Given the description of an element on the screen output the (x, y) to click on. 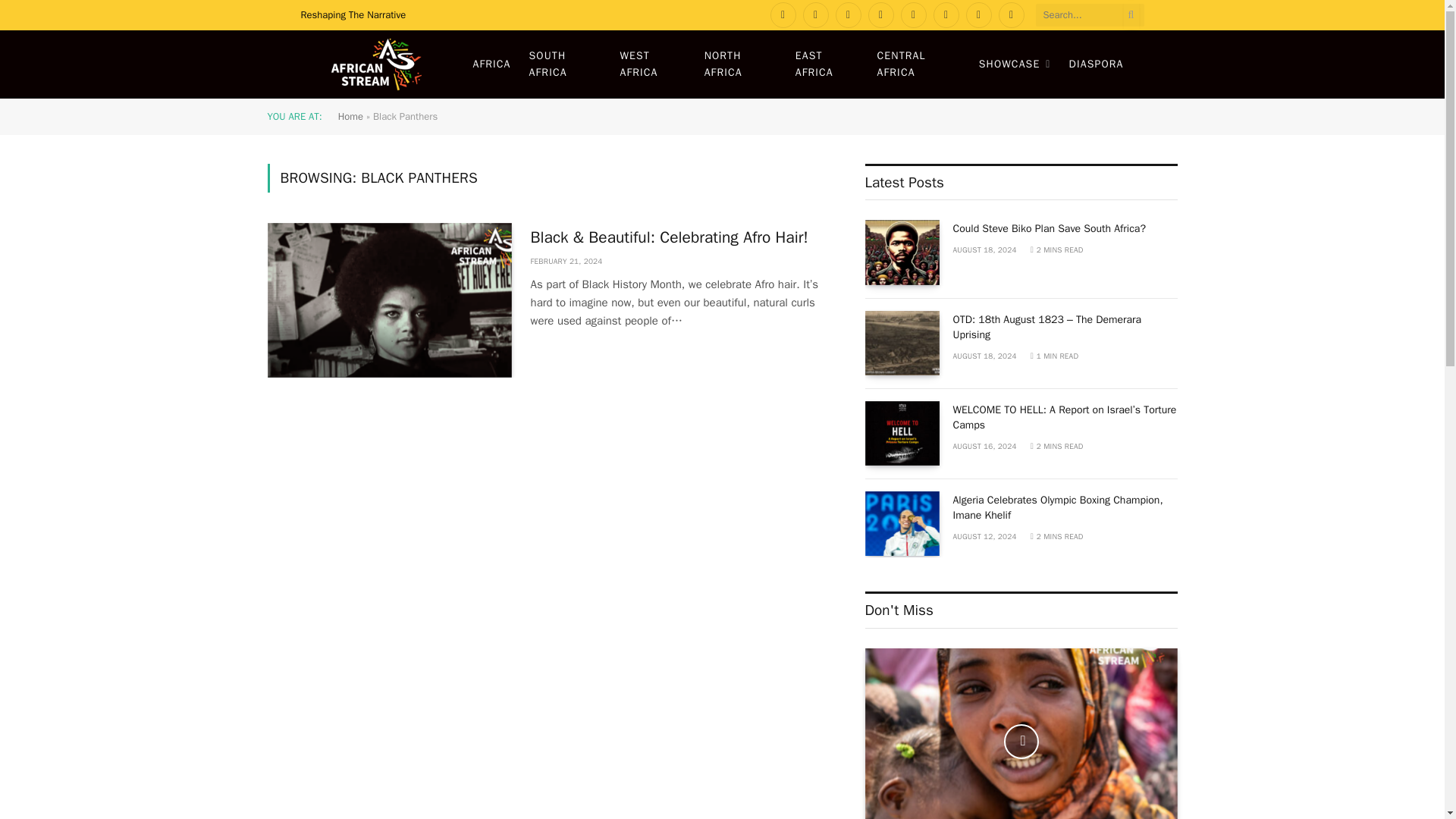
CENTRAL AFRICA (918, 64)
Could Steve Biko Plan Save South Africa? (901, 252)
WEST AFRICA (652, 64)
EAST AFRICA (826, 64)
Facebook (783, 14)
SOUTH AFRICA (565, 64)
Instagram (848, 14)
NORTH AFRICA (740, 64)
African Stream (375, 64)
Threads (1011, 14)
